Given the description of an element on the screen output the (x, y) to click on. 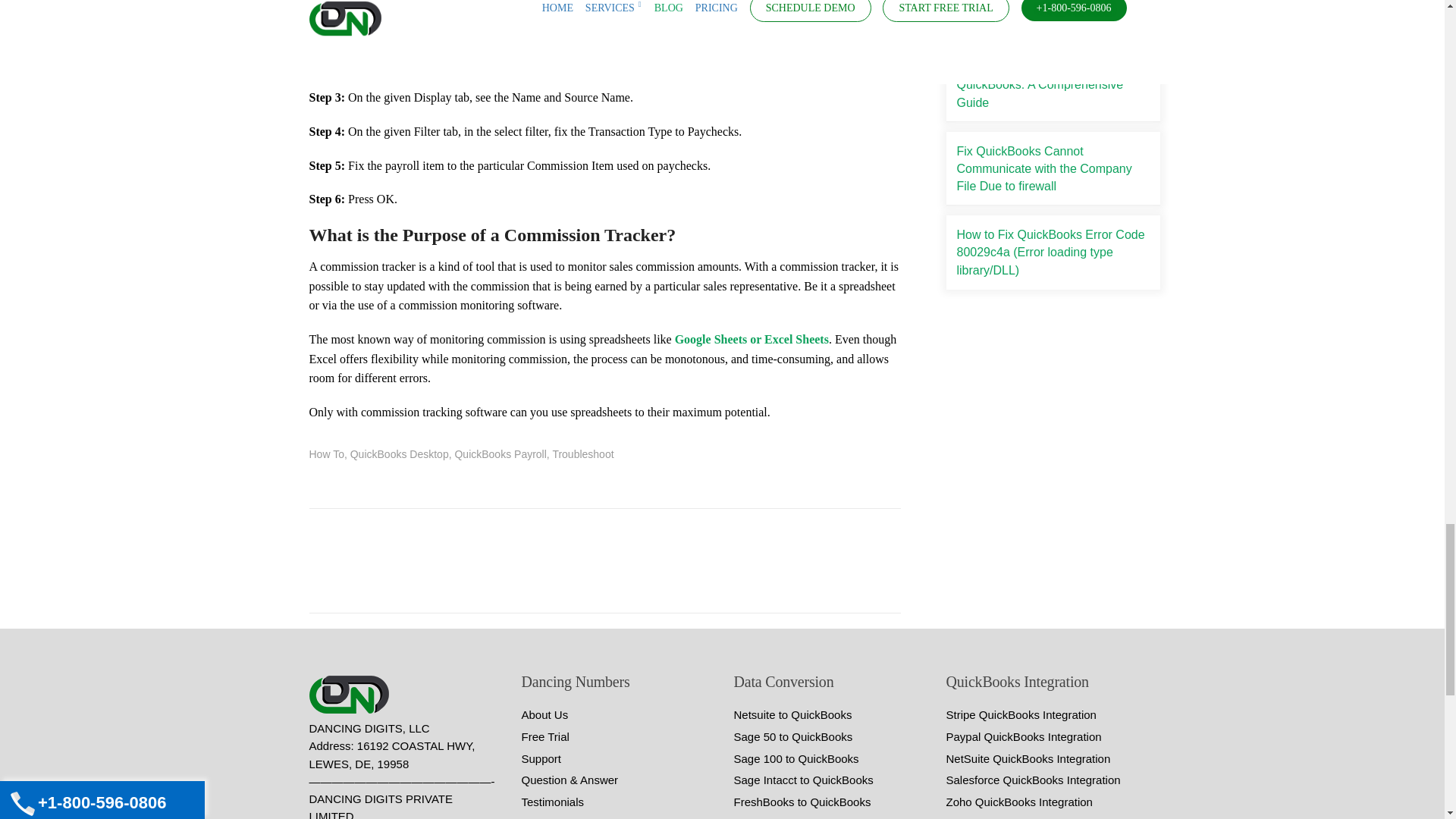
Dancing Numbers (352, 694)
